Given the description of an element on the screen output the (x, y) to click on. 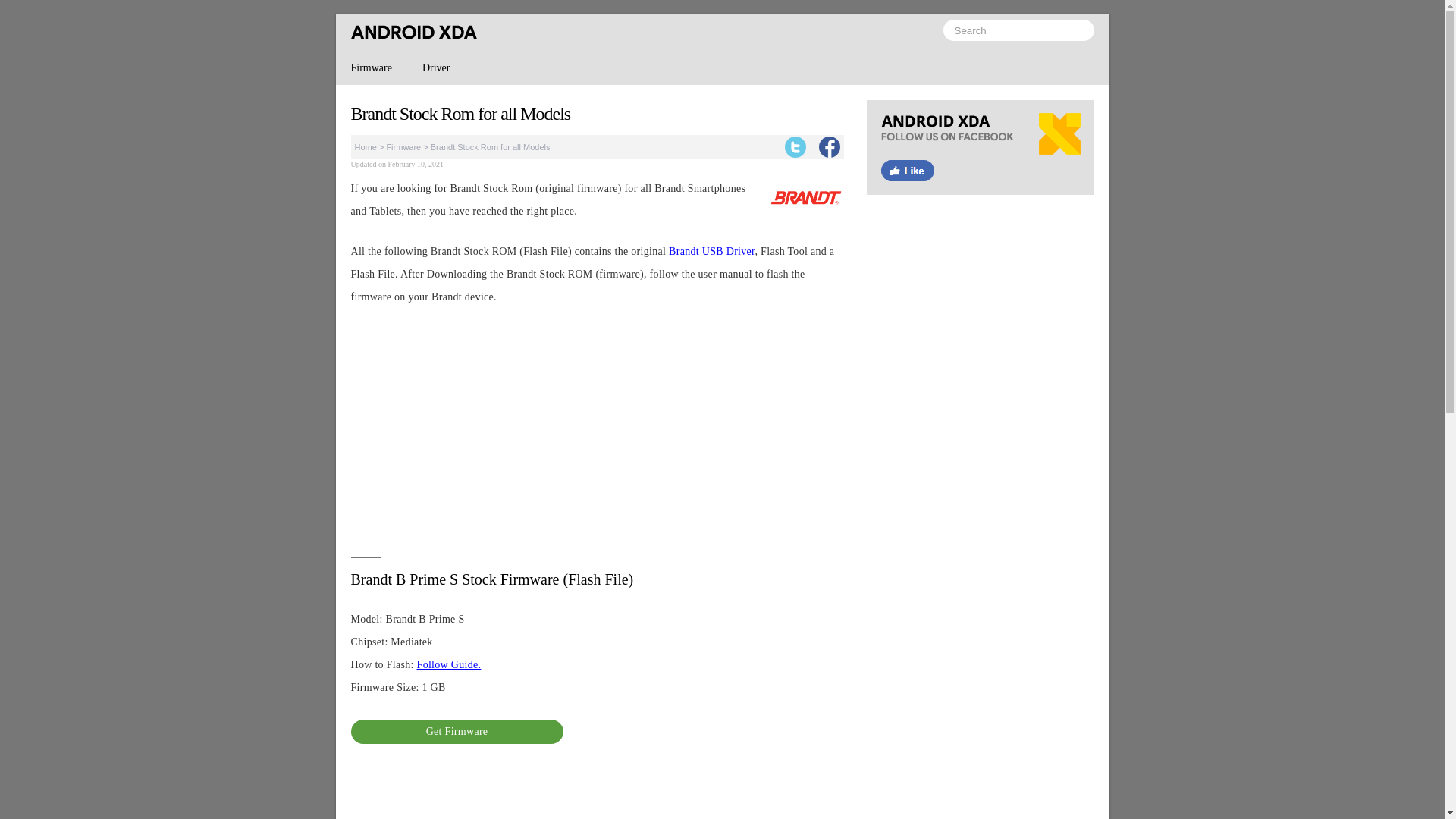
Advertisement (596, 791)
Get Firmware (456, 731)
Firmware (402, 146)
Advertisement (596, 431)
Facebook (979, 154)
Firmware (370, 68)
Facebook (829, 147)
Twitter (794, 147)
Driver (436, 68)
Search (1018, 29)
Android XDA (413, 31)
Home (366, 146)
Android XDA (413, 31)
Advertisement (979, 763)
Brandt USB Driver (711, 251)
